Given the description of an element on the screen output the (x, y) to click on. 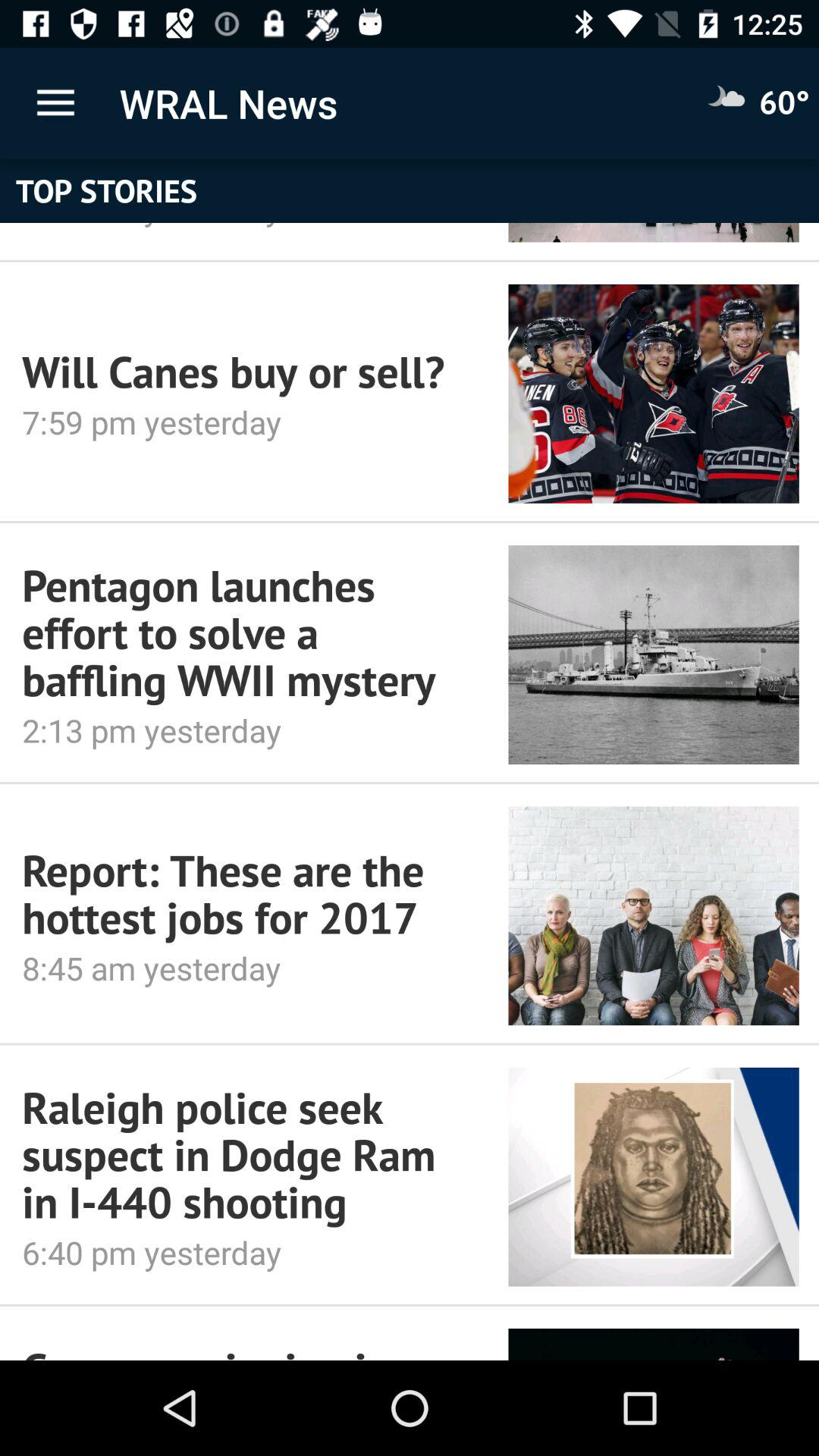
open item below the will canes buy icon (233, 421)
